Given the description of an element on the screen output the (x, y) to click on. 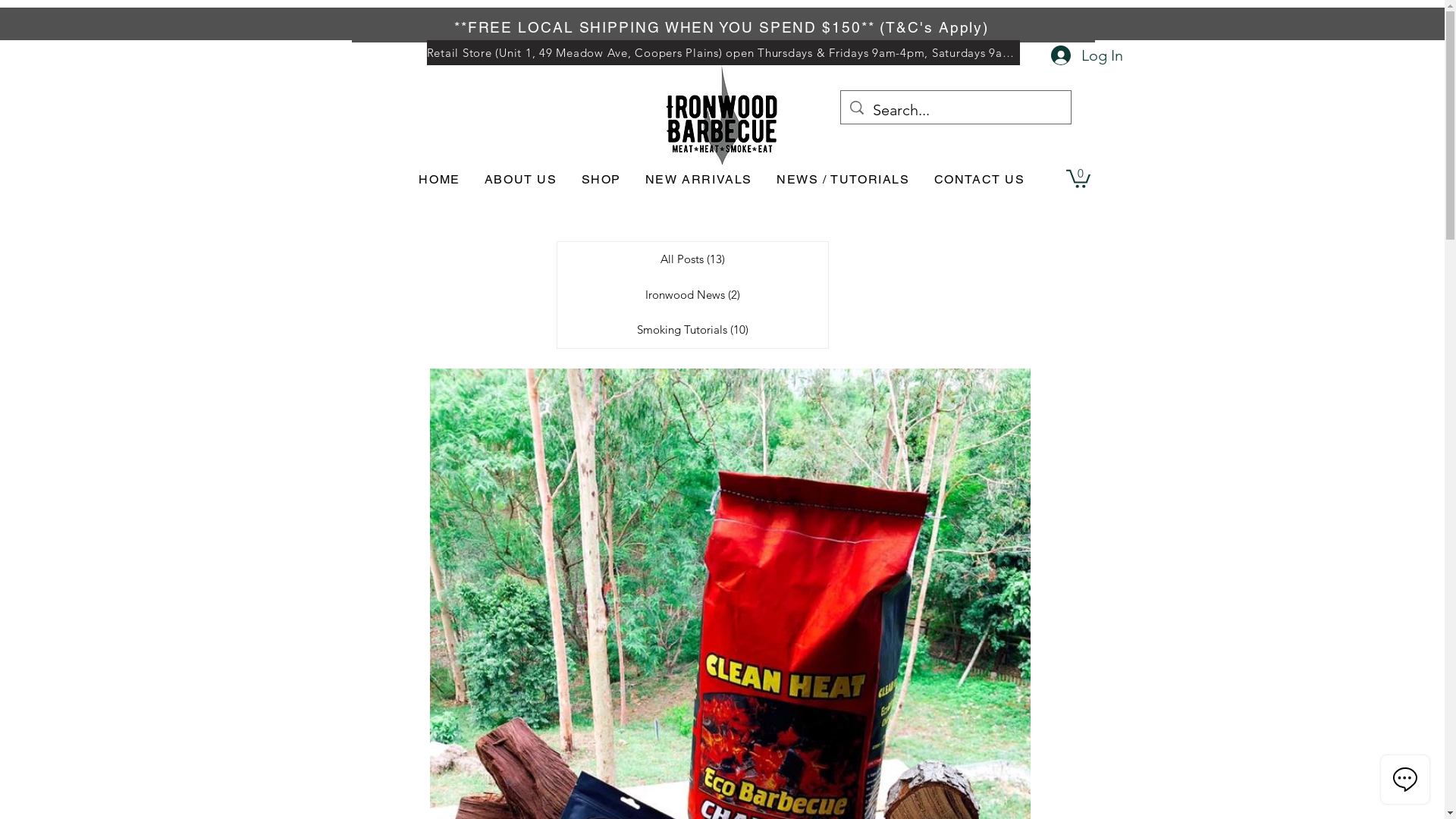
NEWS / TUTORIALS Element type: text (843, 179)
Log In Element type: text (1085, 55)
0 Element type: text (1078, 177)
HOME Element type: text (438, 179)
**FREE LOCAL SHIPPING WHEN YOU SPEND $150** (T&C's Apply) Element type: text (723, 27)
Ironwood News (2) Element type: text (691, 295)
Smoking Tutorials (10) Element type: text (691, 330)
ABOUT US Element type: text (520, 179)
All Posts (13) Element type: text (691, 259)
CONTACT US Element type: text (979, 179)
SHOP Element type: text (601, 179)
